Given the description of an element on the screen output the (x, y) to click on. 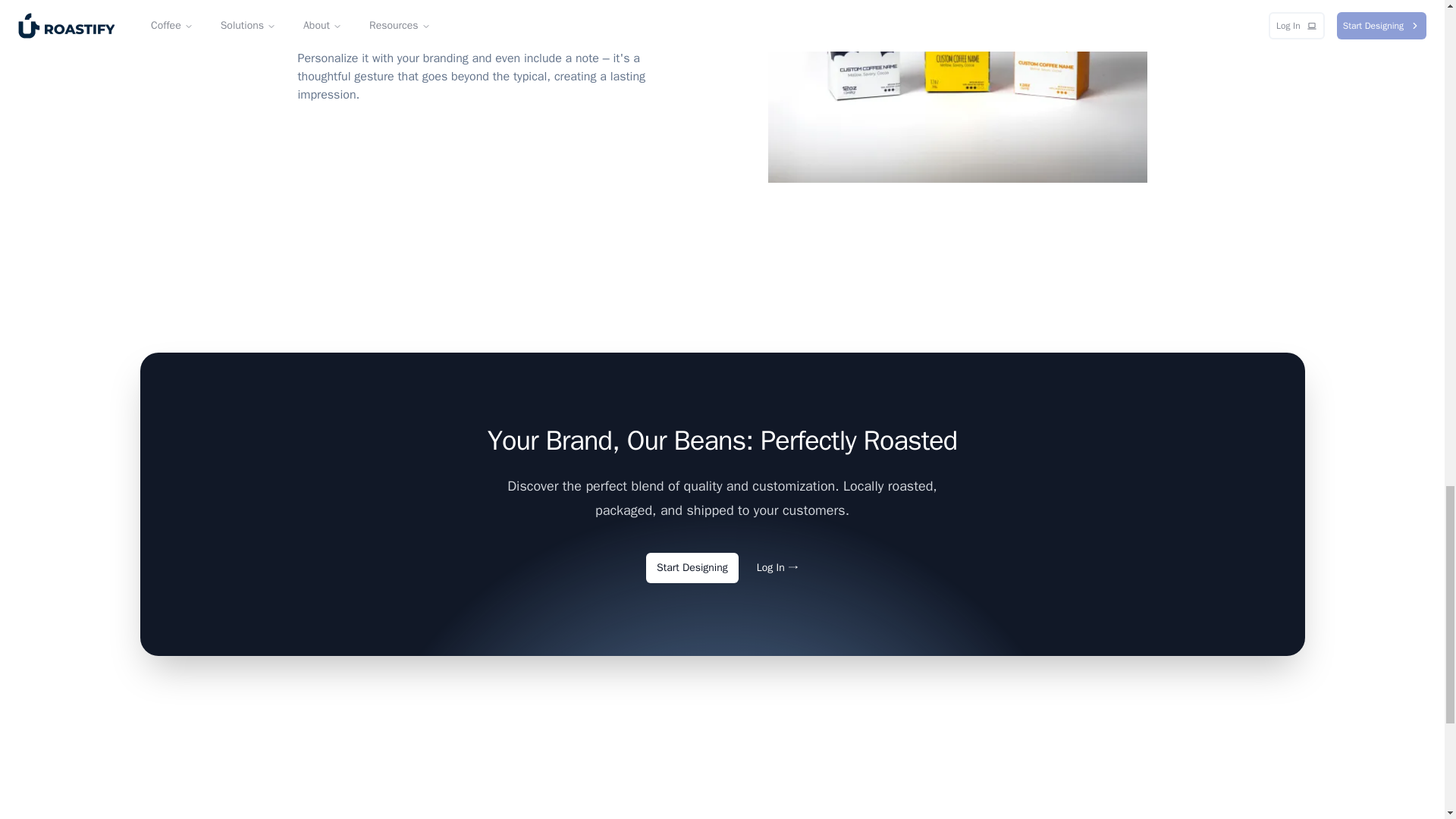
Start Designing (692, 567)
